Given the description of an element on the screen output the (x, y) to click on. 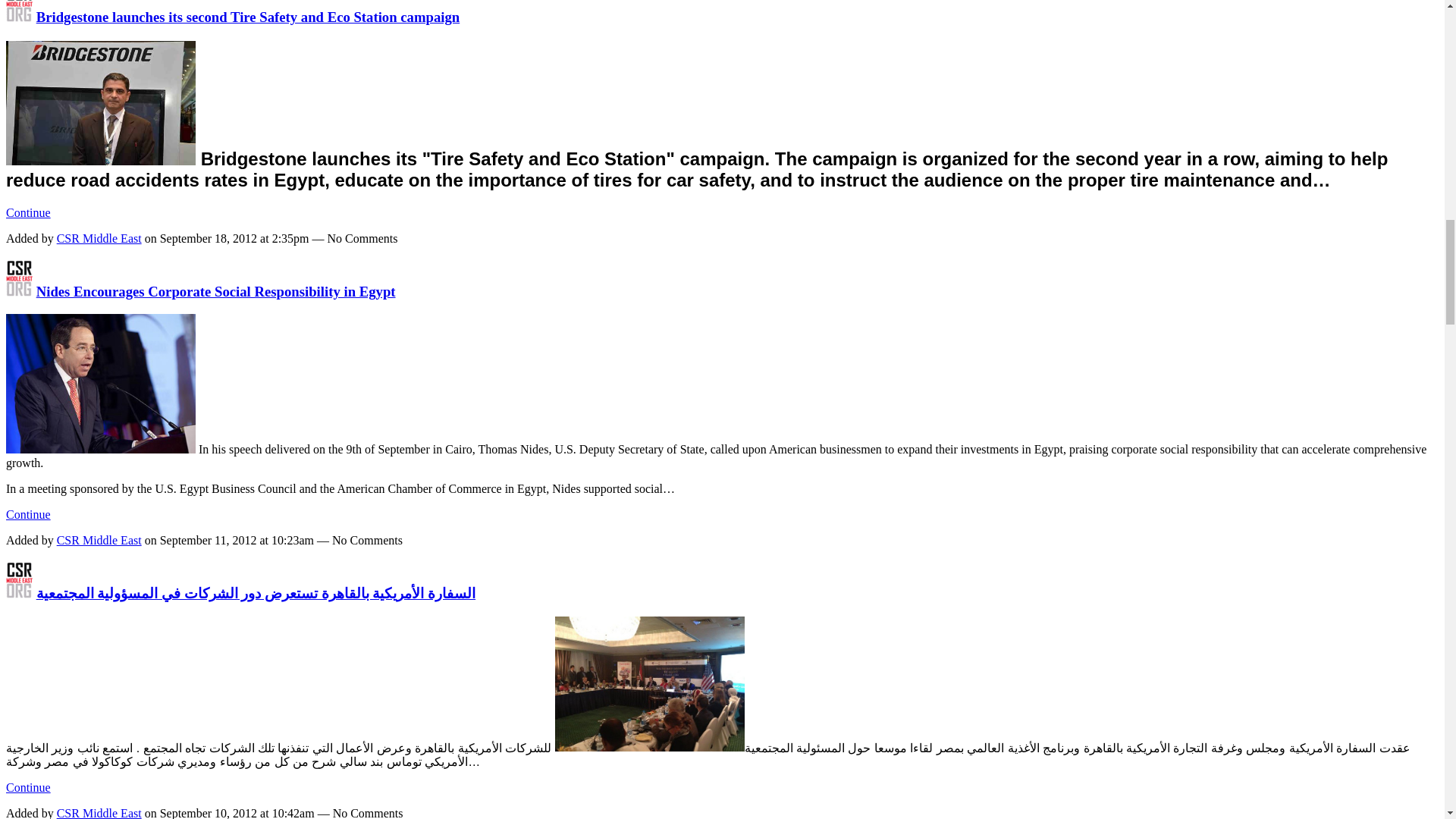
CSR Middle East (18, 17)
CSR Middle East (18, 593)
CSR Middle East (18, 291)
